Given the description of an element on the screen output the (x, y) to click on. 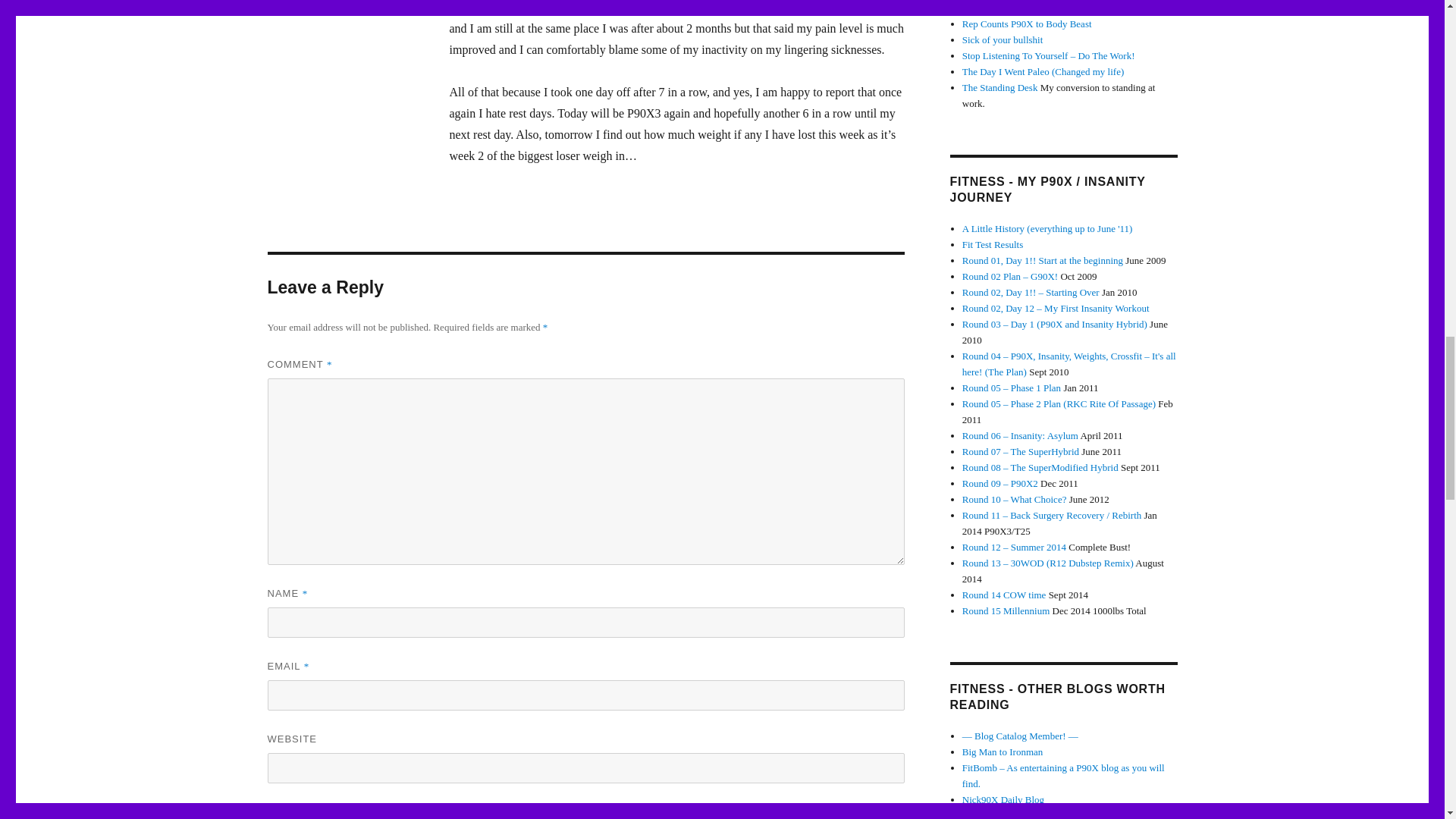
Sept 2010 (1069, 363)
Jan 2010 (1030, 292)
June 2009 (1042, 260)
Oct 2009 (1010, 276)
Refresh (375, 817)
June 2011 (1020, 451)
My conversion to standing at work. (1000, 87)
Feb 2011 (1059, 403)
CAPTCHA (316, 815)
April 2011 (1020, 435)
